Given the description of an element on the screen output the (x, y) to click on. 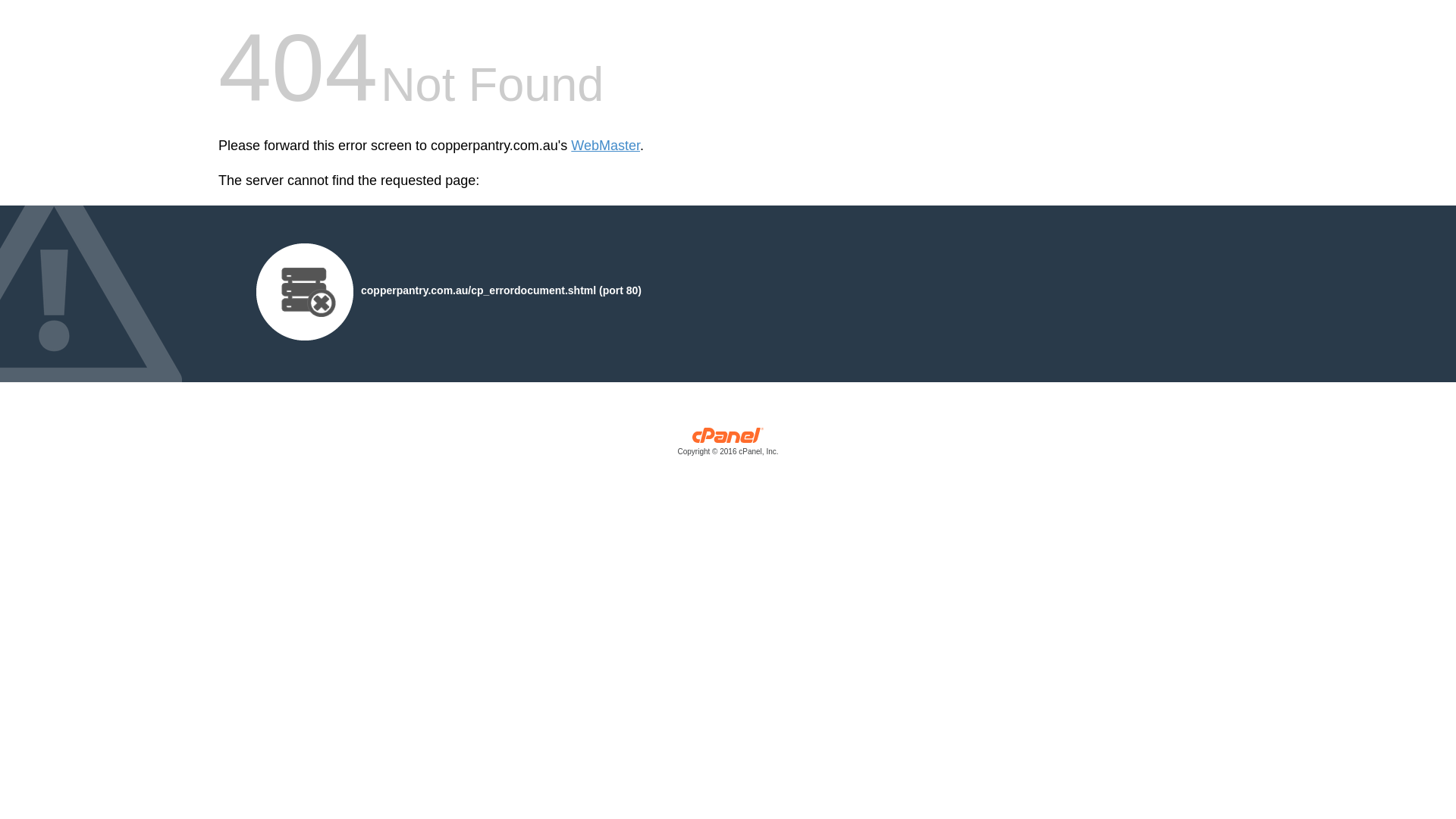
WebMaster Element type: text (605, 145)
